Given the description of an element on the screen output the (x, y) to click on. 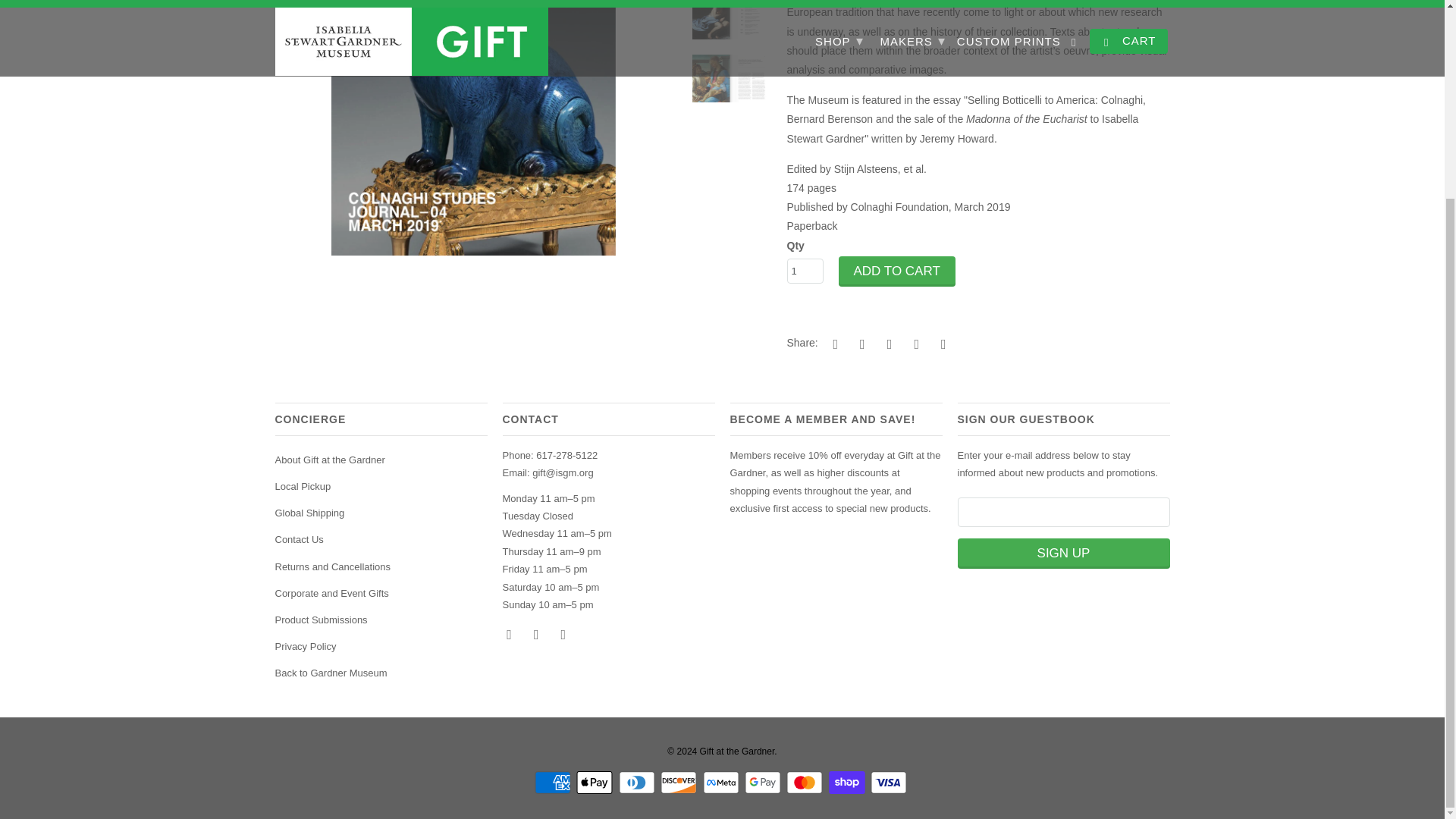
Gift at the Gardner on Pinterest (537, 633)
Share this on Pinterest (887, 343)
Sign Up (1062, 553)
Share this on Facebook (859, 343)
Gift at the Gardner on Facebook (510, 633)
Email this to a friend (940, 343)
Share this on Twitter (833, 343)
1 (805, 270)
Colnaghi Journal Vol 4, (473, 127)
Gift at the Gardner on Instagram (564, 633)
